Given the description of an element on the screen output the (x, y) to click on. 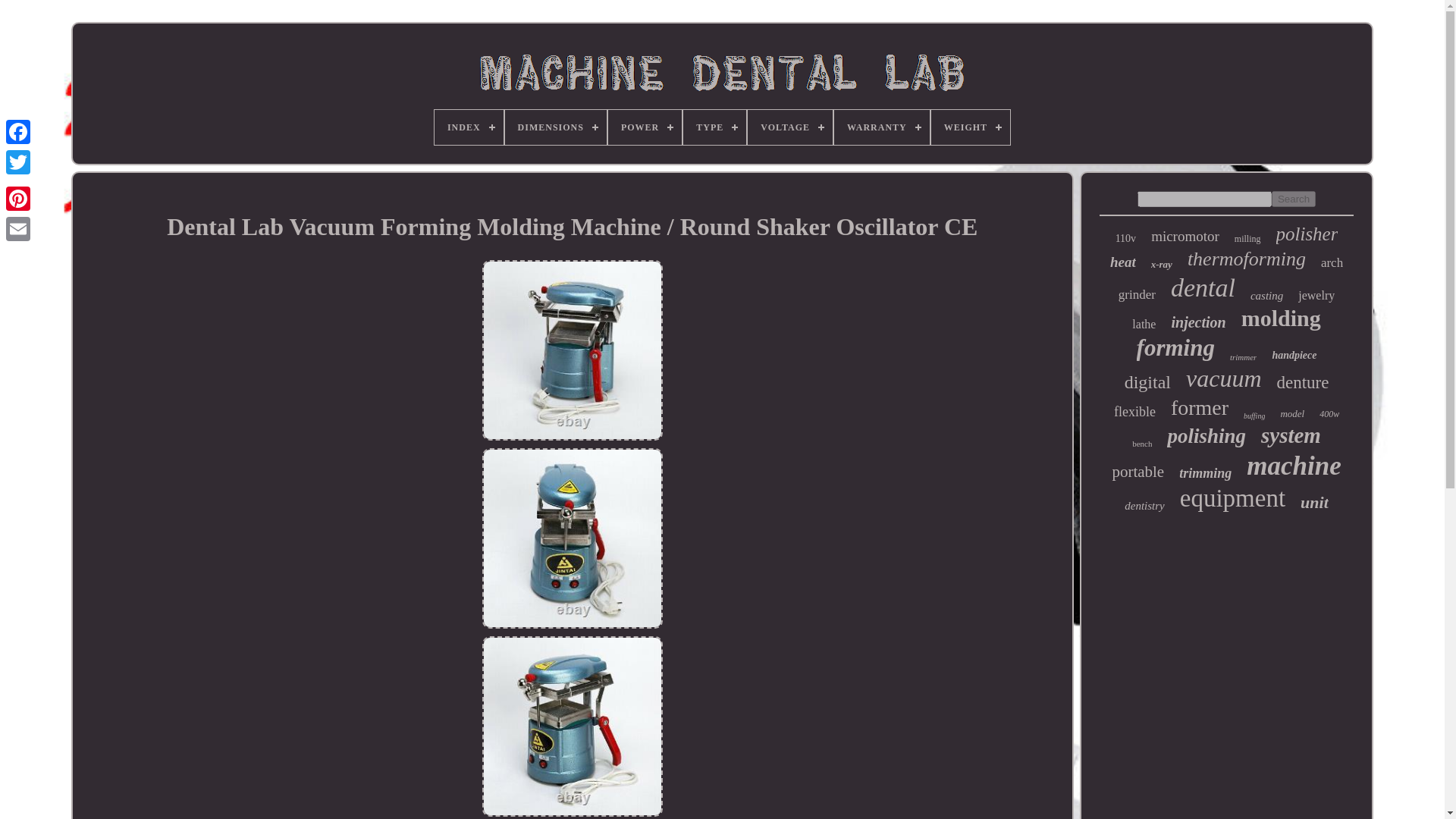
DIMENSIONS (556, 126)
POWER (644, 126)
INDEX (468, 126)
Search (1293, 198)
